Given the description of an element on the screen output the (x, y) to click on. 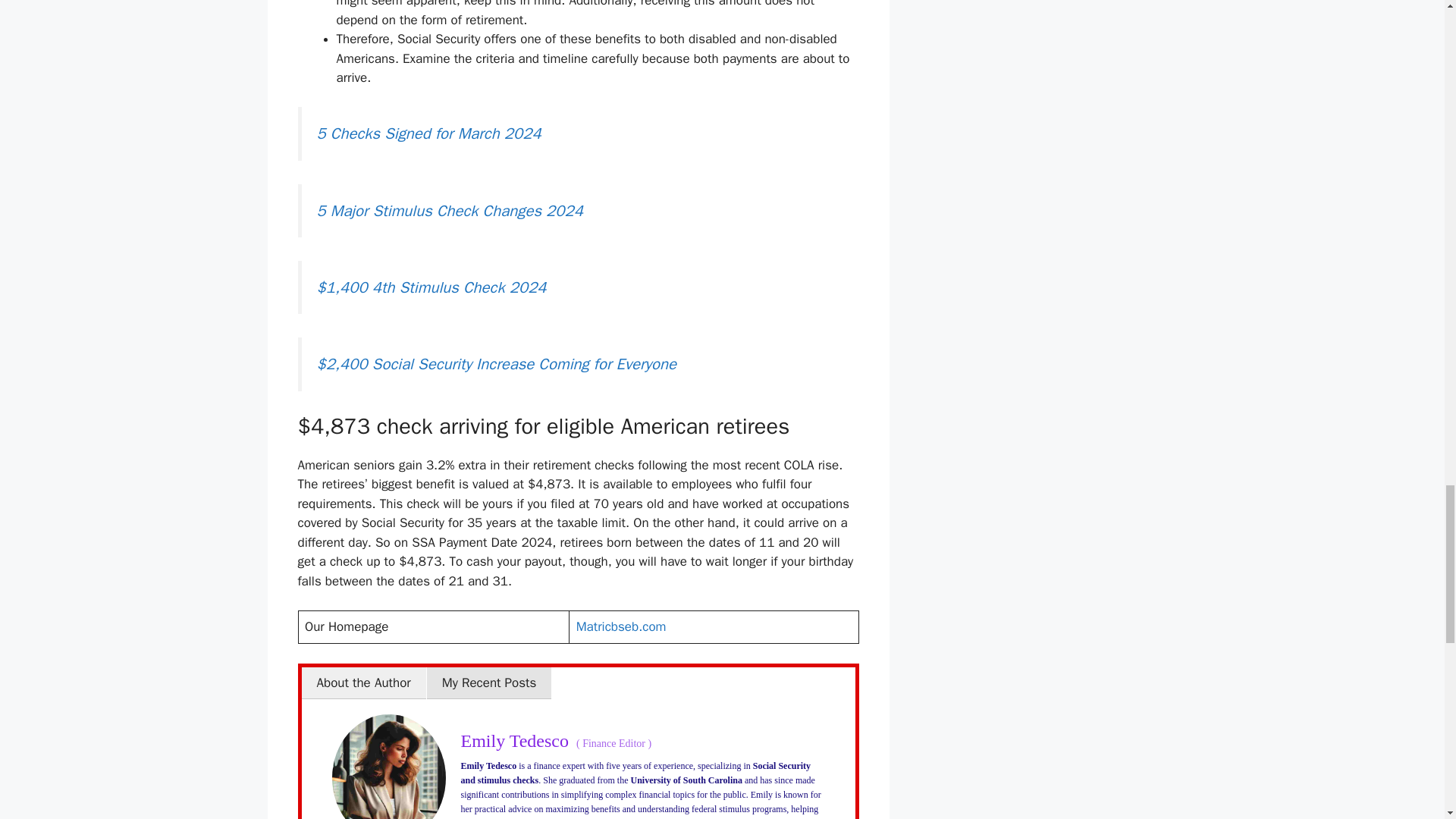
5 Major Stimulus Check Changes 2024 (450, 210)
Matricbseb.com (621, 626)
Emily Tedesco (515, 741)
5 Checks Signed for March 2024 (429, 133)
